Given the description of an element on the screen output the (x, y) to click on. 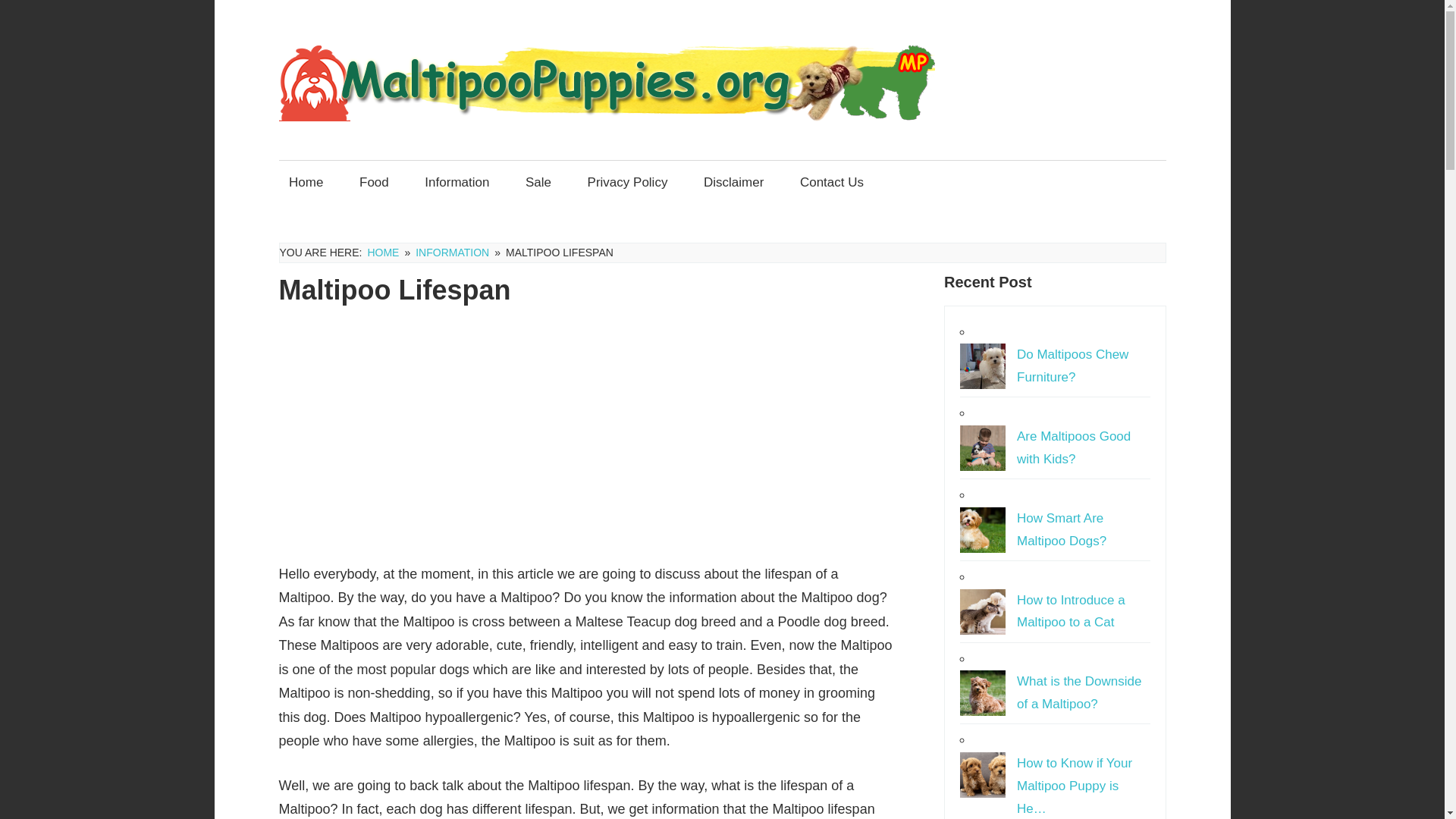
Privacy Policy (627, 180)
Disclaimer (733, 180)
Contact Us (831, 180)
Food (373, 180)
Advertisement (586, 436)
Information (456, 180)
Sale (537, 180)
HOME (382, 252)
Home (306, 180)
INFORMATION (451, 252)
